Given the description of an element on the screen output the (x, y) to click on. 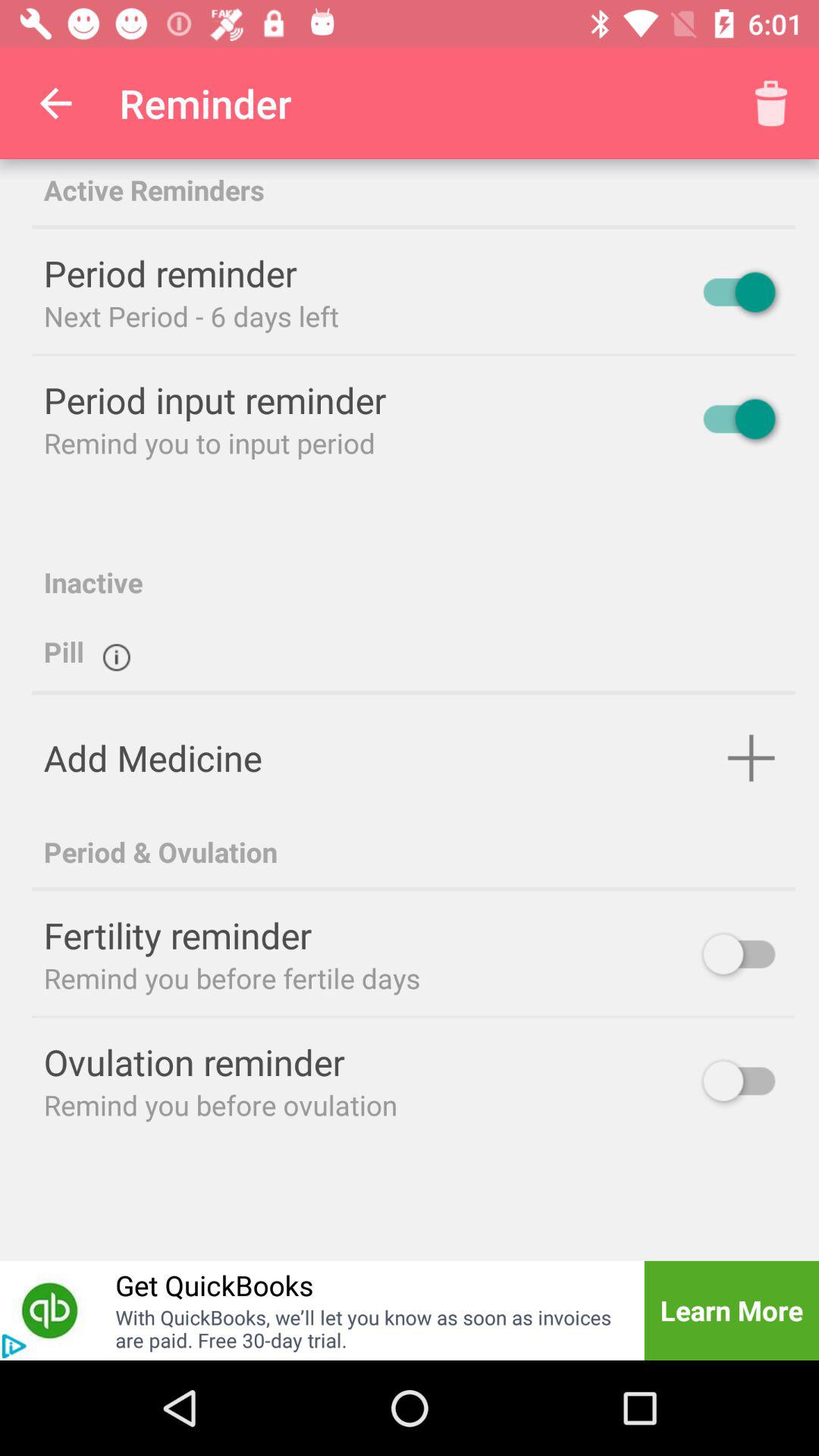
open advertisement (14, 1346)
